Given the description of an element on the screen output the (x, y) to click on. 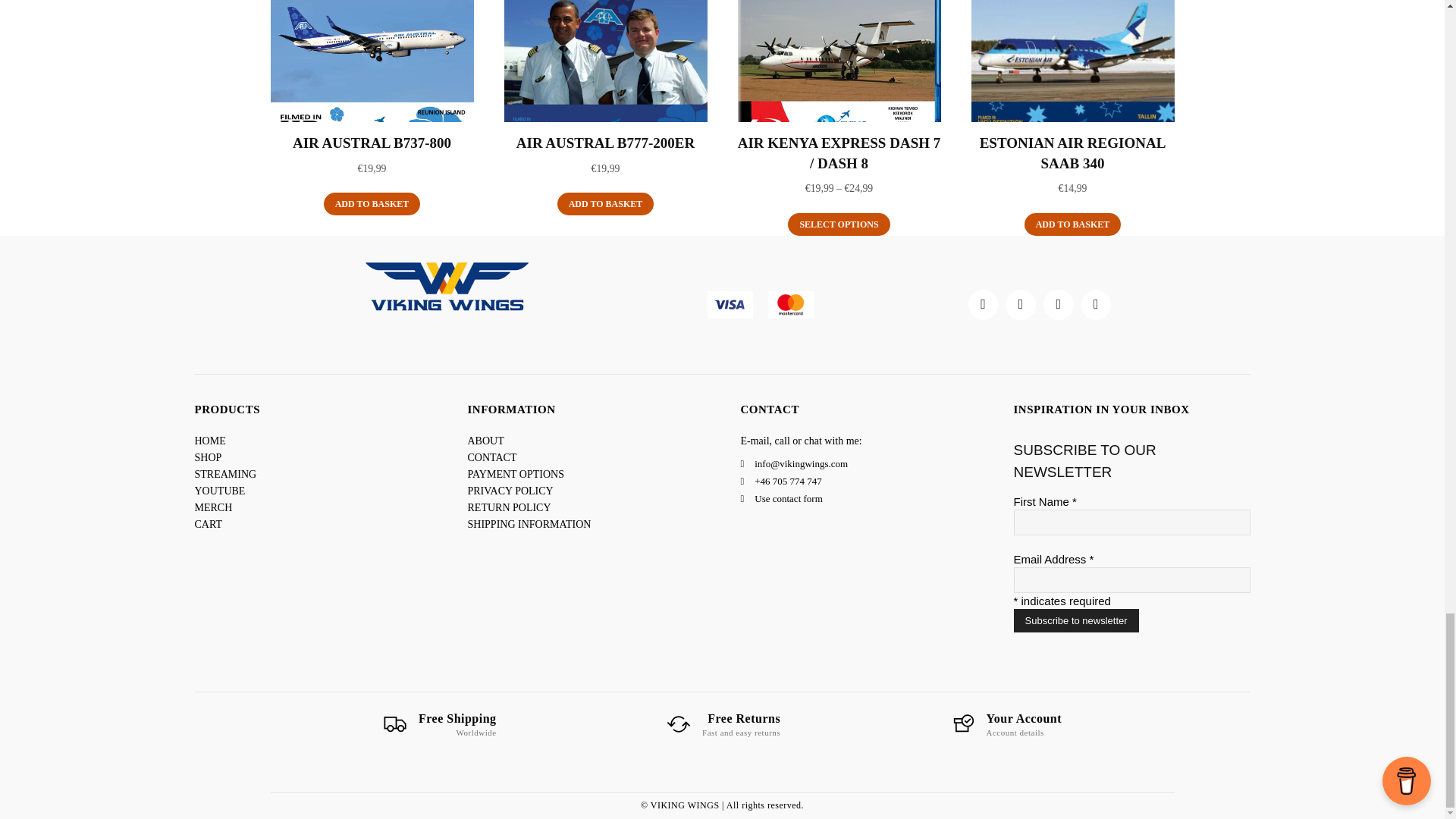
Air Austral B737-800 (371, 61)
AIR AUSTRAL B737-800 (371, 142)
Air Austral B777-200ER (604, 61)
Subscribe to newsletter (1075, 620)
